Given the description of an element on the screen output the (x, y) to click on. 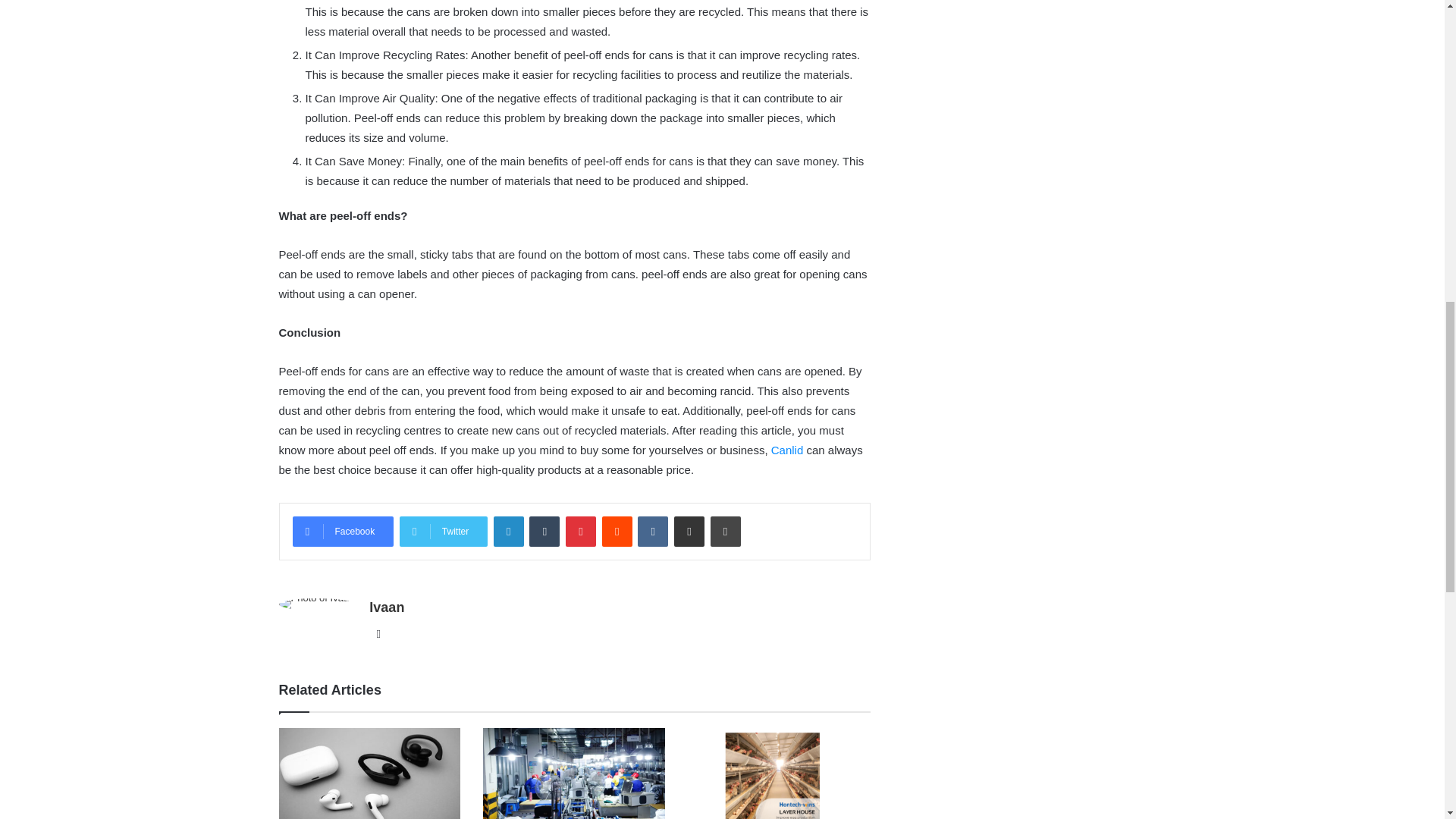
Ivaan (386, 607)
Tumblr (544, 531)
Share via Email (689, 531)
Pinterest (580, 531)
Share via Email (689, 531)
Facebook (343, 531)
LinkedIn (508, 531)
Twitter (442, 531)
Facebook (343, 531)
Twitter (442, 531)
Pinterest (580, 531)
Reddit (616, 531)
LinkedIn (508, 531)
VKontakte (652, 531)
Website (378, 633)
